Given the description of an element on the screen output the (x, y) to click on. 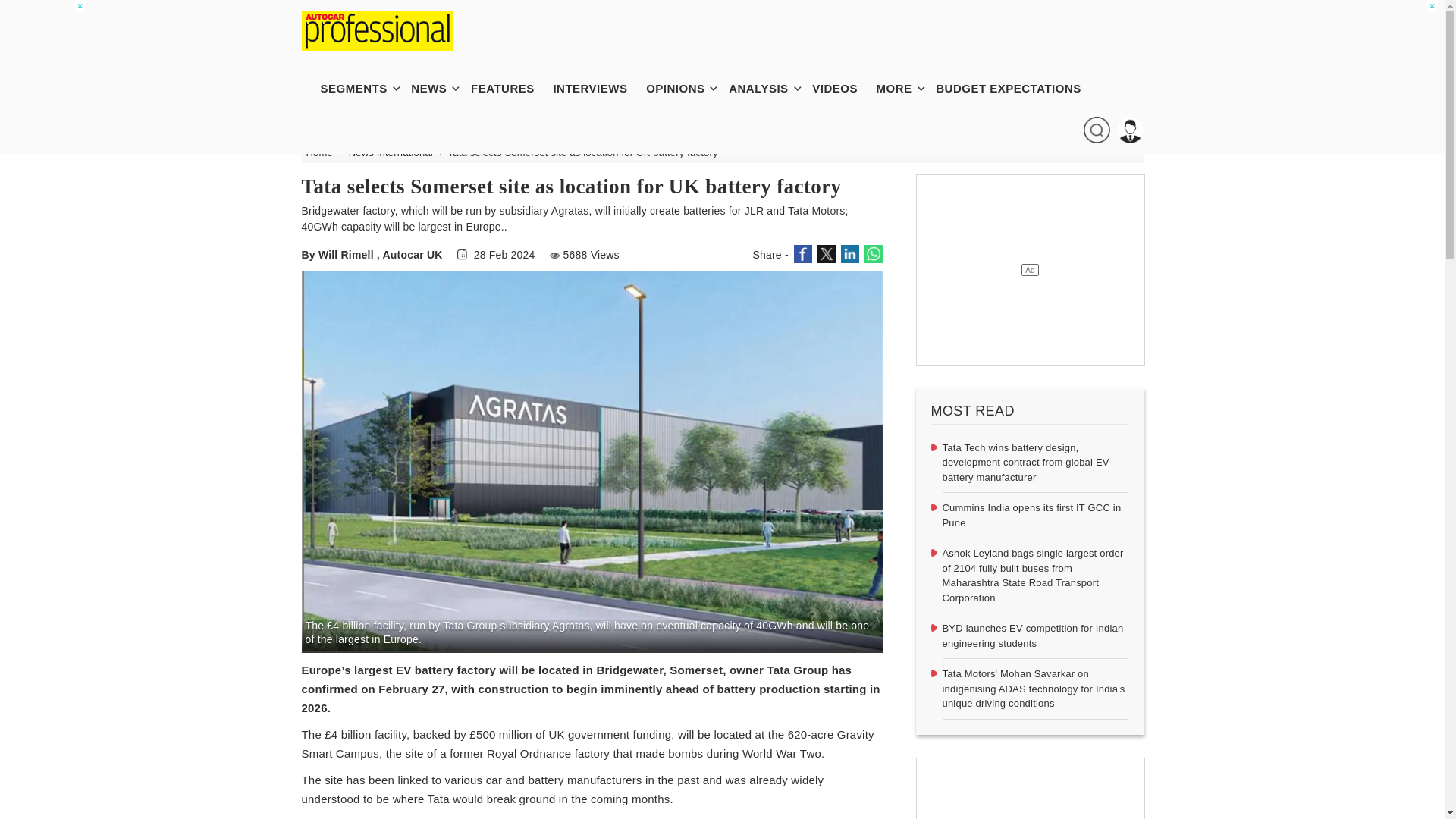
INTERVIEWS (596, 88)
NEWS (435, 88)
FEATURES (510, 88)
ANALYSIS (765, 88)
OPINIONS (682, 88)
SEGMENTS (361, 88)
VIDEOS (842, 88)
BUDGET EXPECTATIONS (1015, 88)
MORE (901, 88)
